Given the description of an element on the screen output the (x, y) to click on. 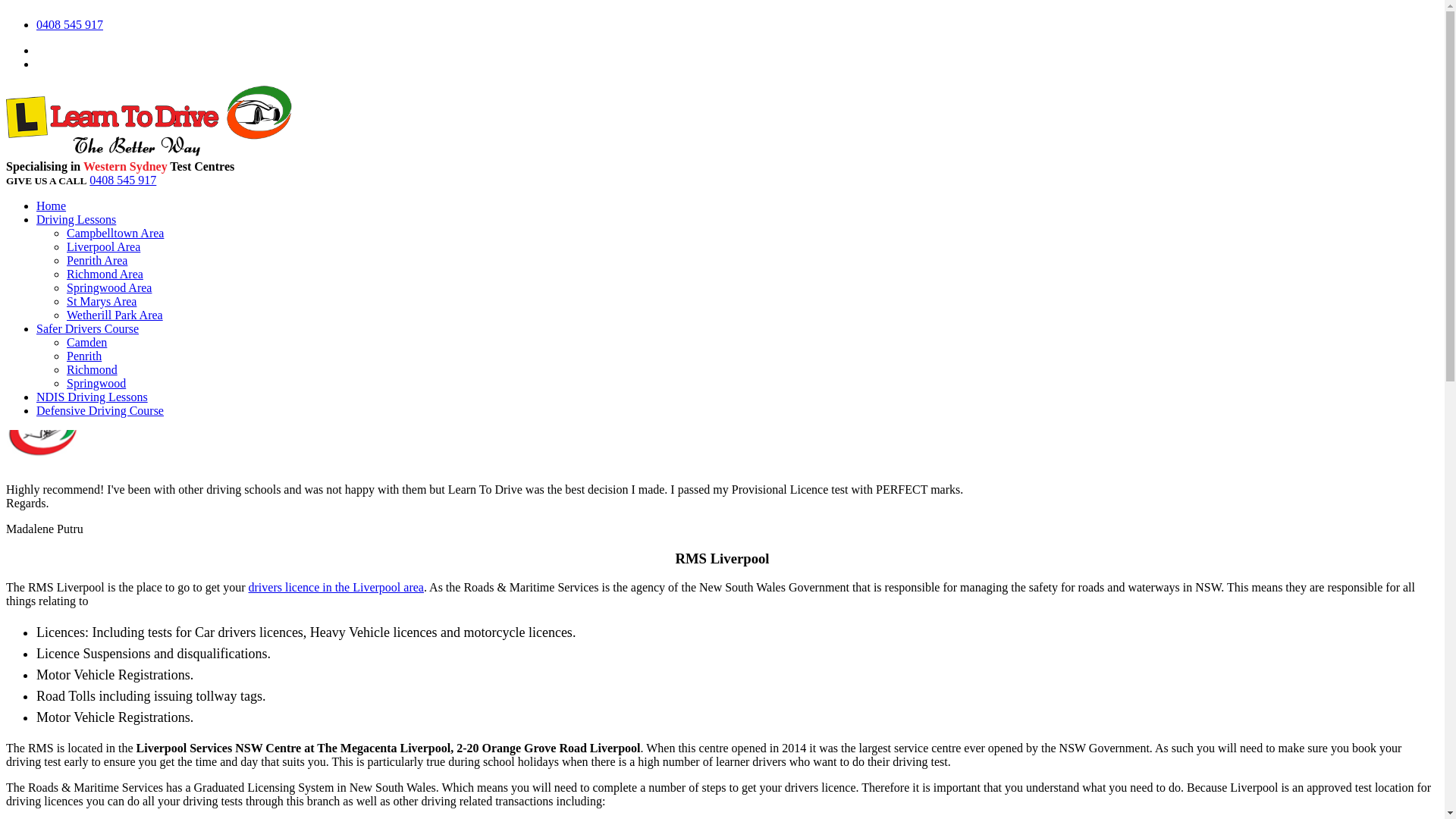
Driving Lessons Element type: text (76, 219)
0408 545 917 Element type: text (69, 24)
Defensive Driving Course Element type: text (99, 410)
BOOK NOW Element type: text (722, 241)
Liverpool Area Element type: text (103, 246)
Richmond Element type: text (91, 369)
Richmond Area Element type: text (104, 273)
Home Element type: text (50, 205)
St Marys Area Element type: text (101, 300)
Springwood Area Element type: text (108, 287)
PURCHASE LESSON PACKAGE Element type: text (722, 356)
Campbelltown Area Element type: text (114, 232)
Camden Element type: text (86, 341)
Springwood Element type: text (95, 382)
Penrith Element type: text (83, 355)
drivers licence in the Liverpool area Element type: text (335, 586)
Penrith Area Element type: text (96, 260)
PACKAGES & VOUCHERS Element type: text (722, 299)
Wetherill Park Area Element type: text (114, 314)
Safer Drivers Course Element type: text (87, 328)
0408 545 917 Element type: text (122, 179)
NDIS Driving Lessons Element type: text (91, 396)
